Given the description of an element on the screen output the (x, y) to click on. 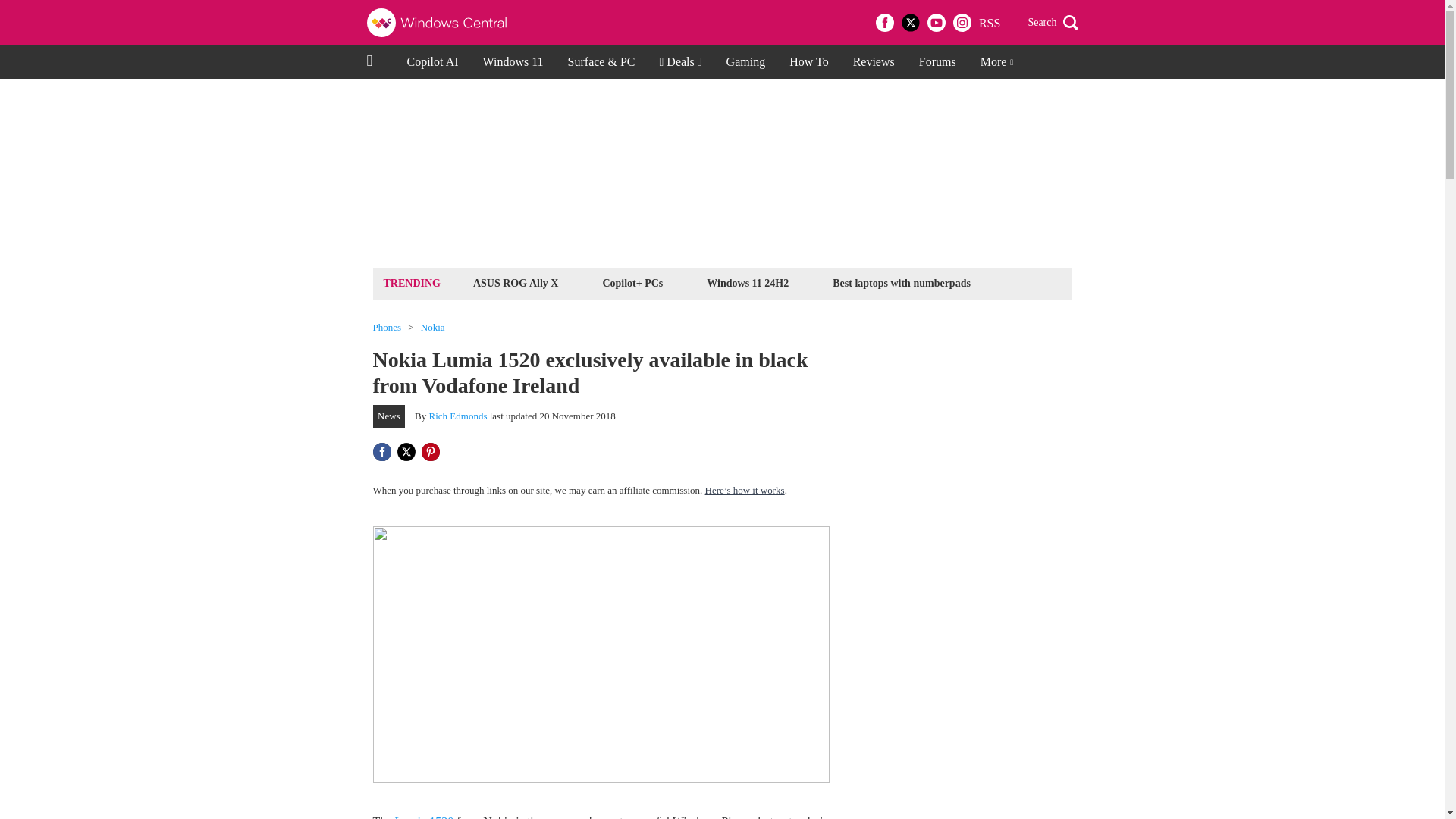
Reviews (874, 61)
How To (808, 61)
Copilot AI (432, 61)
Best laptops with numberpads (901, 282)
News (389, 415)
RSS (989, 22)
Gaming (745, 61)
Windows 11 (513, 61)
Windows 11 24H2 (747, 282)
Rich Edmonds (458, 415)
ASUS ROG Ally X (515, 282)
Forums (937, 61)
Lumia 1520 (423, 816)
Phones (386, 327)
Nokia (432, 327)
